Given the description of an element on the screen output the (x, y) to click on. 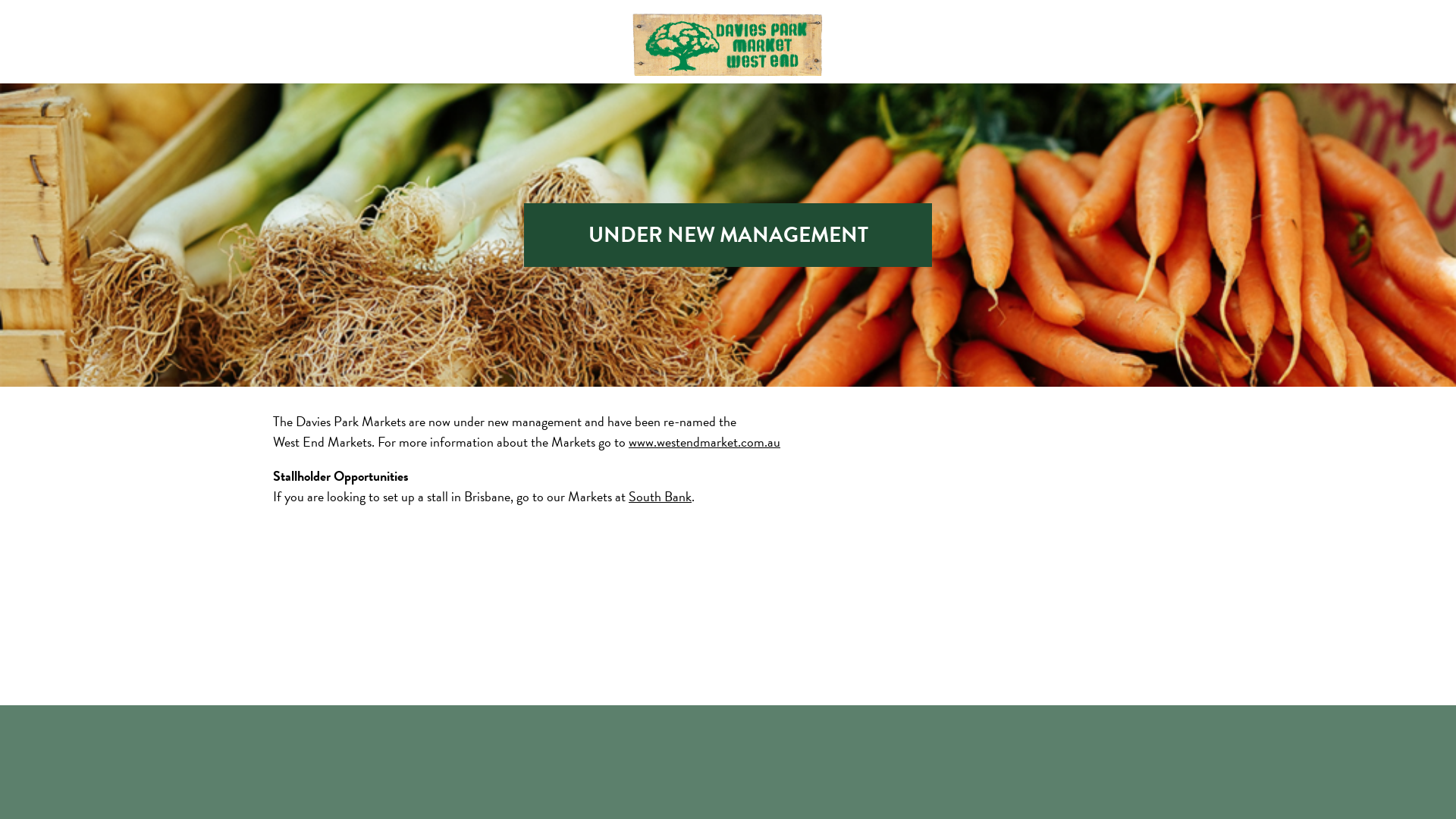
South Bank Element type: text (659, 496)
www.westendmarket.com.au Element type: text (704, 441)
